Given the description of an element on the screen output the (x, y) to click on. 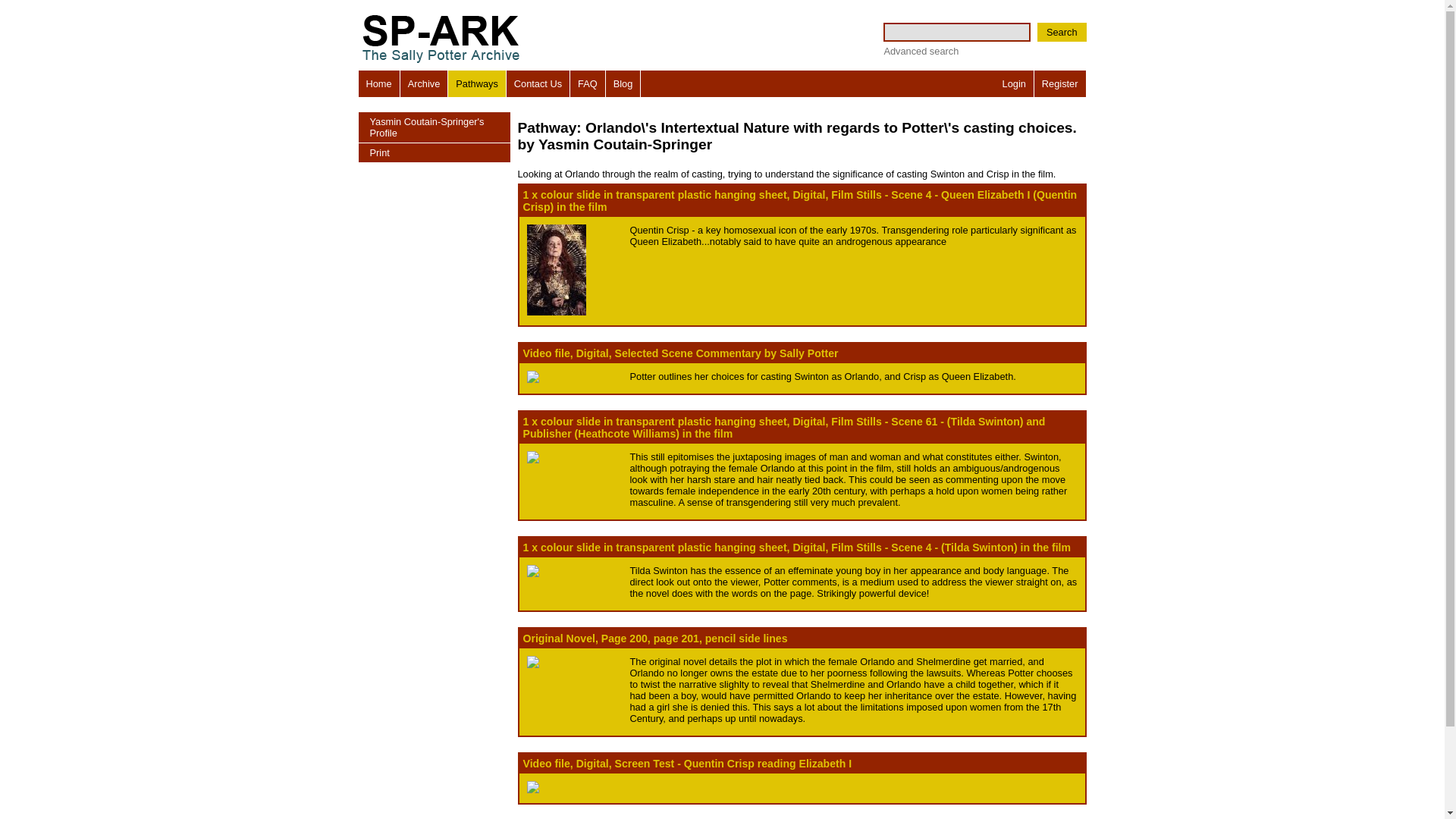
Home (378, 83)
Pathways (476, 83)
Archive (424, 83)
Print (433, 152)
Yasmin Coutain-Springer's Profile (433, 127)
Blog (623, 83)
Contact Us (538, 83)
FAQ (587, 83)
